Given the description of an element on the screen output the (x, y) to click on. 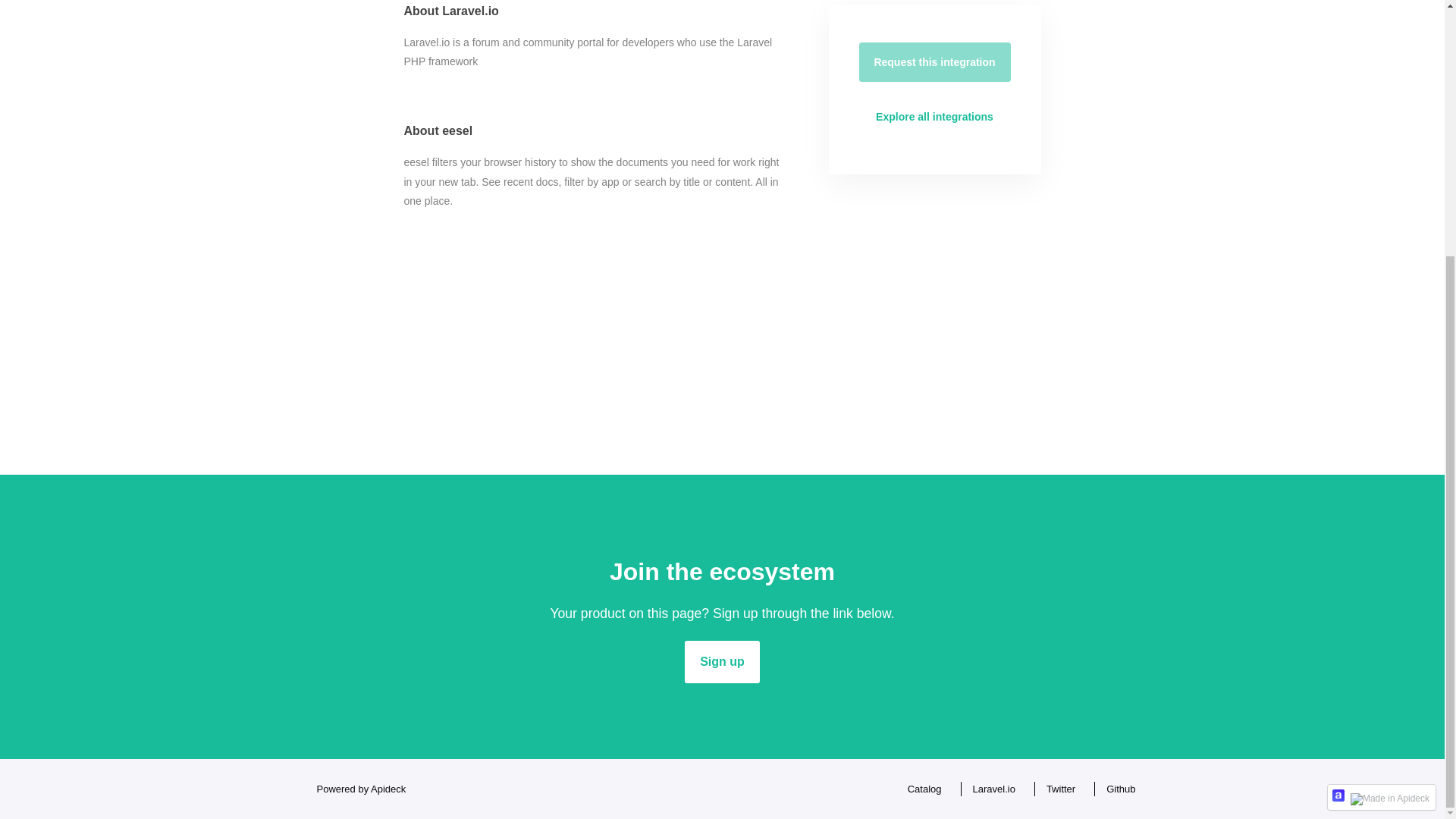
Sign up (722, 661)
Laravel.io (989, 789)
Github (1116, 789)
Powered by Apideck (356, 789)
Explore all integrations (934, 116)
Request this integration (934, 61)
Catalog (920, 789)
Twitter (1056, 789)
